Given the description of an element on the screen output the (x, y) to click on. 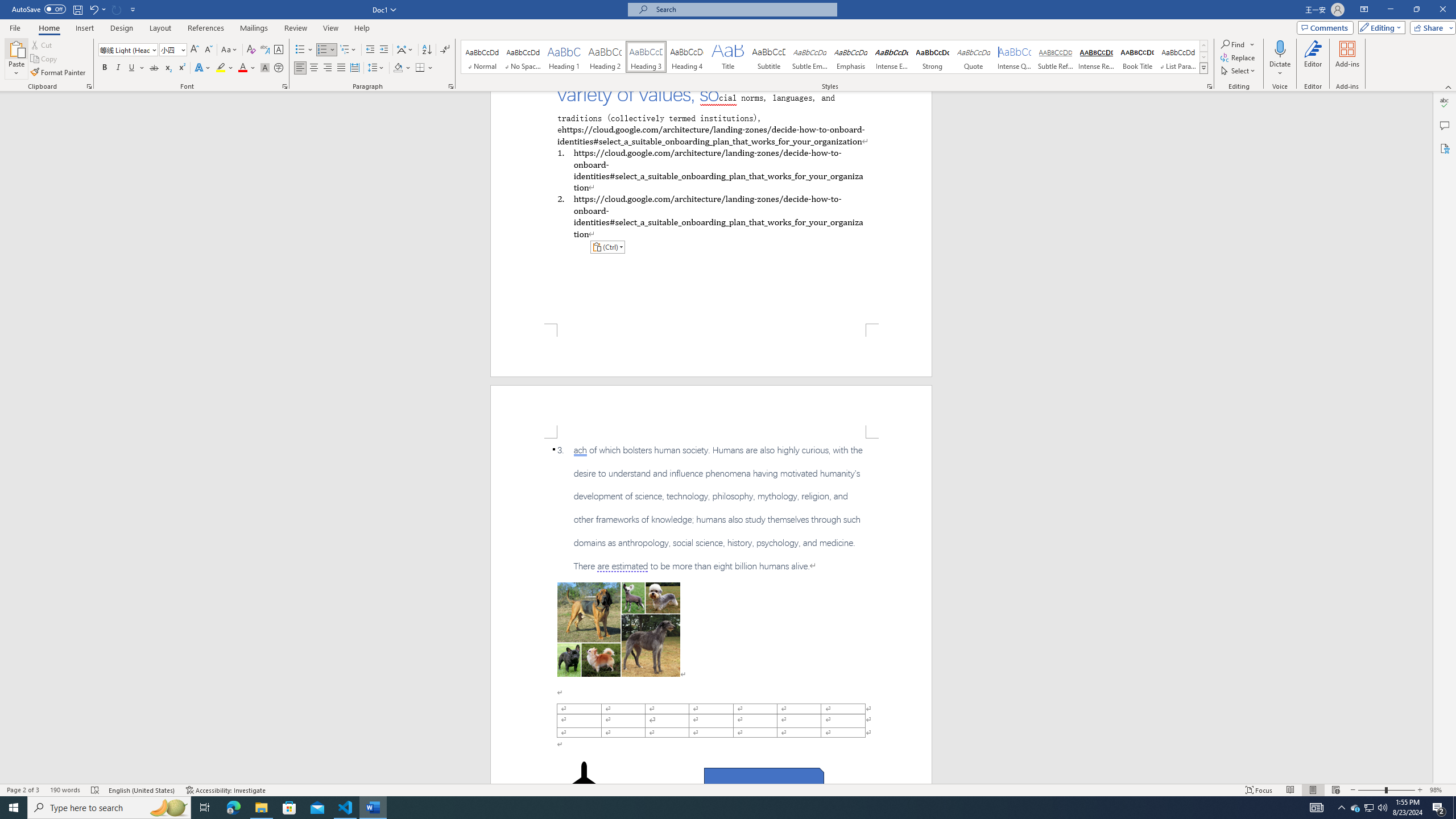
Page Number Page 2 of 3 (22, 790)
Distributed (354, 67)
Format Painter (58, 72)
Intense Reference (1095, 56)
Title (727, 56)
1. (710, 169)
Header -Section 1- (710, 411)
